Given the description of an element on the screen output the (x, y) to click on. 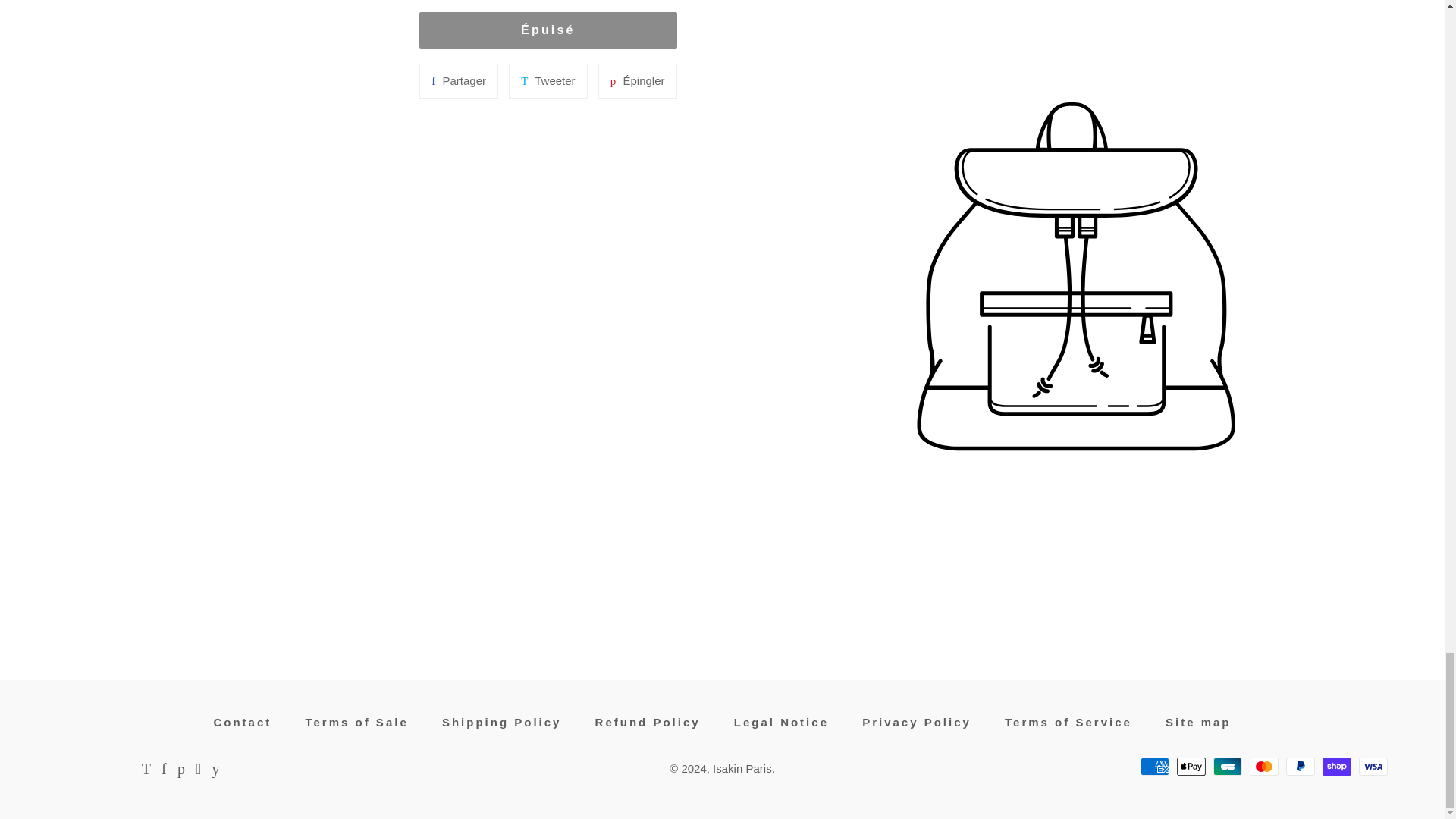
Mastercard (1263, 766)
American Express (1154, 766)
Shop Pay (1336, 766)
Apple Pay (1190, 766)
Partager sur Facebook (458, 80)
Cartes Bancaires (1226, 766)
Visa (1372, 766)
Tweeter sur Twitter (547, 80)
PayPal (1299, 766)
